Given the description of an element on the screen output the (x, y) to click on. 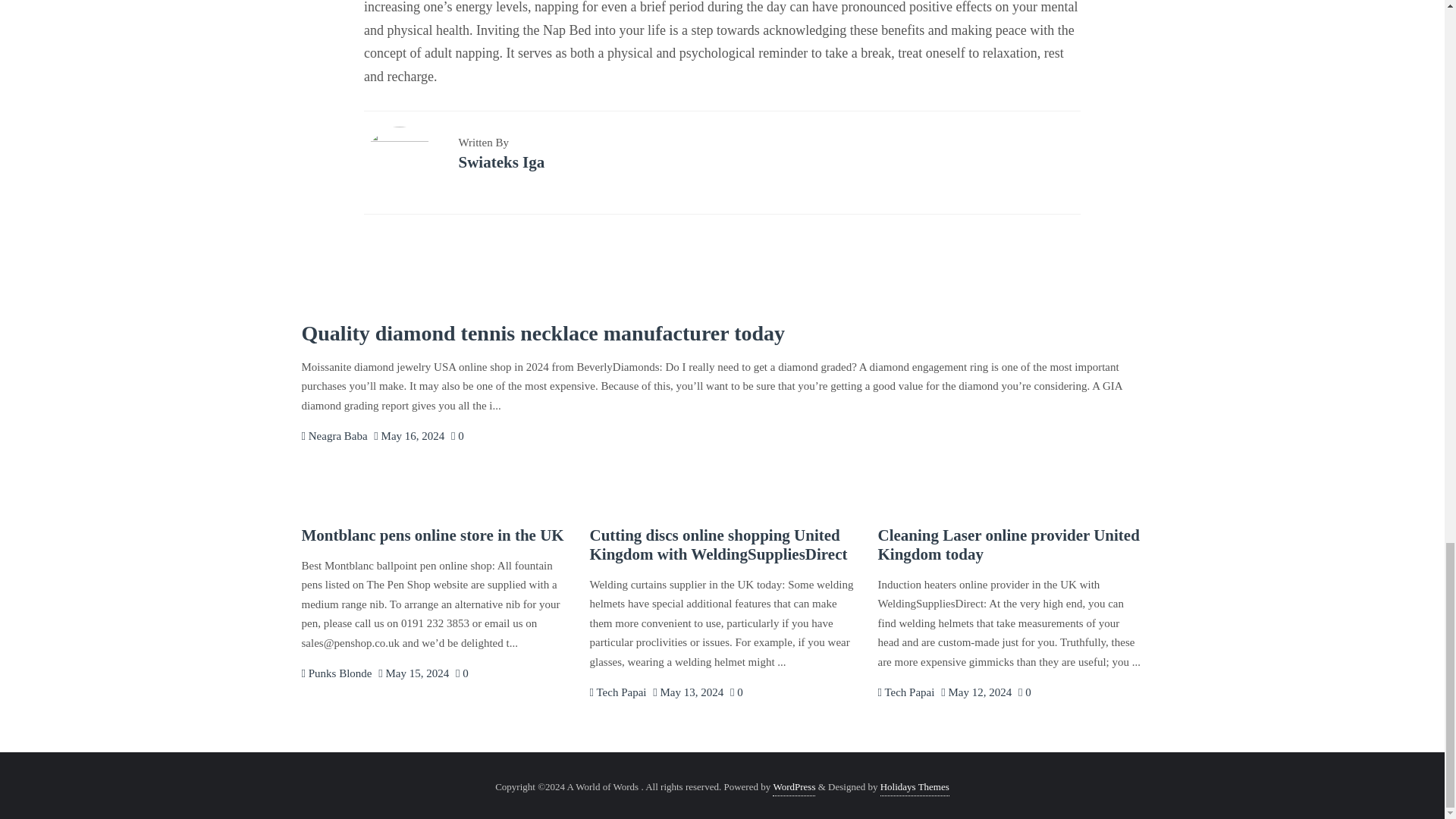
Montblanc pens online store in the UK (432, 535)
Neagra Baba (334, 435)
0 (1023, 692)
Tech Papai (617, 692)
Punks Blonde (336, 673)
Tech Papai (905, 692)
Swiateks Iga (501, 162)
Quality diamond tennis necklace manufacturer today (543, 332)
Tech Papai (617, 692)
May 13, 2024 (687, 692)
Cleaning Laser online provider United Kingdom today (1007, 544)
Quality diamond tennis necklace manufacturer today (543, 332)
Cleaning Laser online provider United Kingdom today (1007, 544)
